Given the description of an element on the screen output the (x, y) to click on. 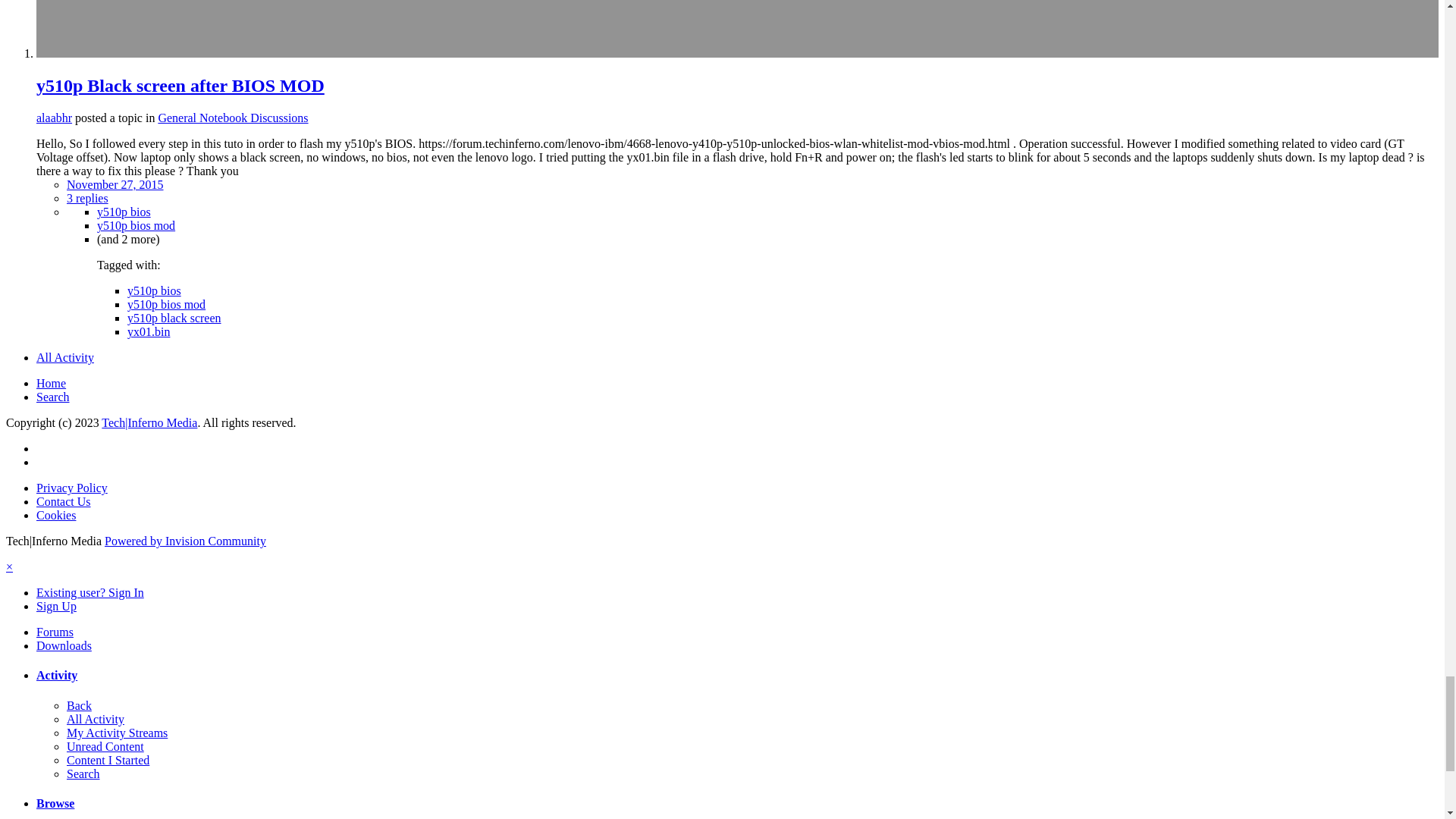
Find other content tagged with 'y510p bios mod' (135, 225)
Find other content tagged with 'y510p bios mod' (166, 304)
Find other content tagged with 'y510p bios' (154, 290)
Find other content tagged with 'yx01.bin' (149, 331)
Find other content tagged with 'y510p bios' (124, 211)
Home (50, 382)
Find other content tagged with 'y510p black screen' (174, 318)
Go to alaabhr's profile (53, 117)
Invision Community (185, 540)
